Given the description of an element on the screen output the (x, y) to click on. 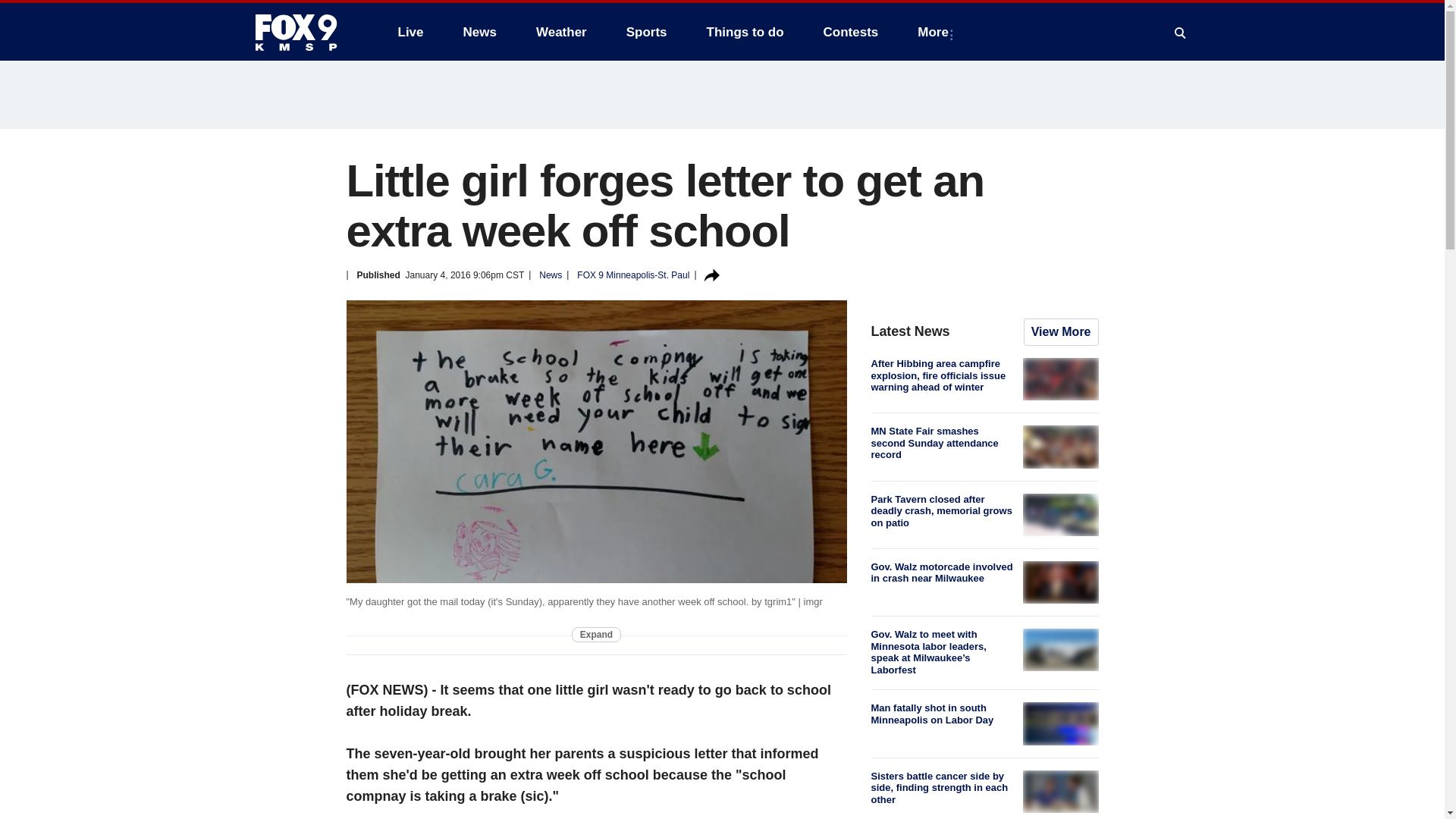
More (935, 32)
Sports (646, 32)
News (479, 32)
Contests (850, 32)
Weather (561, 32)
Things to do (745, 32)
Live (410, 32)
